Given the description of an element on the screen output the (x, y) to click on. 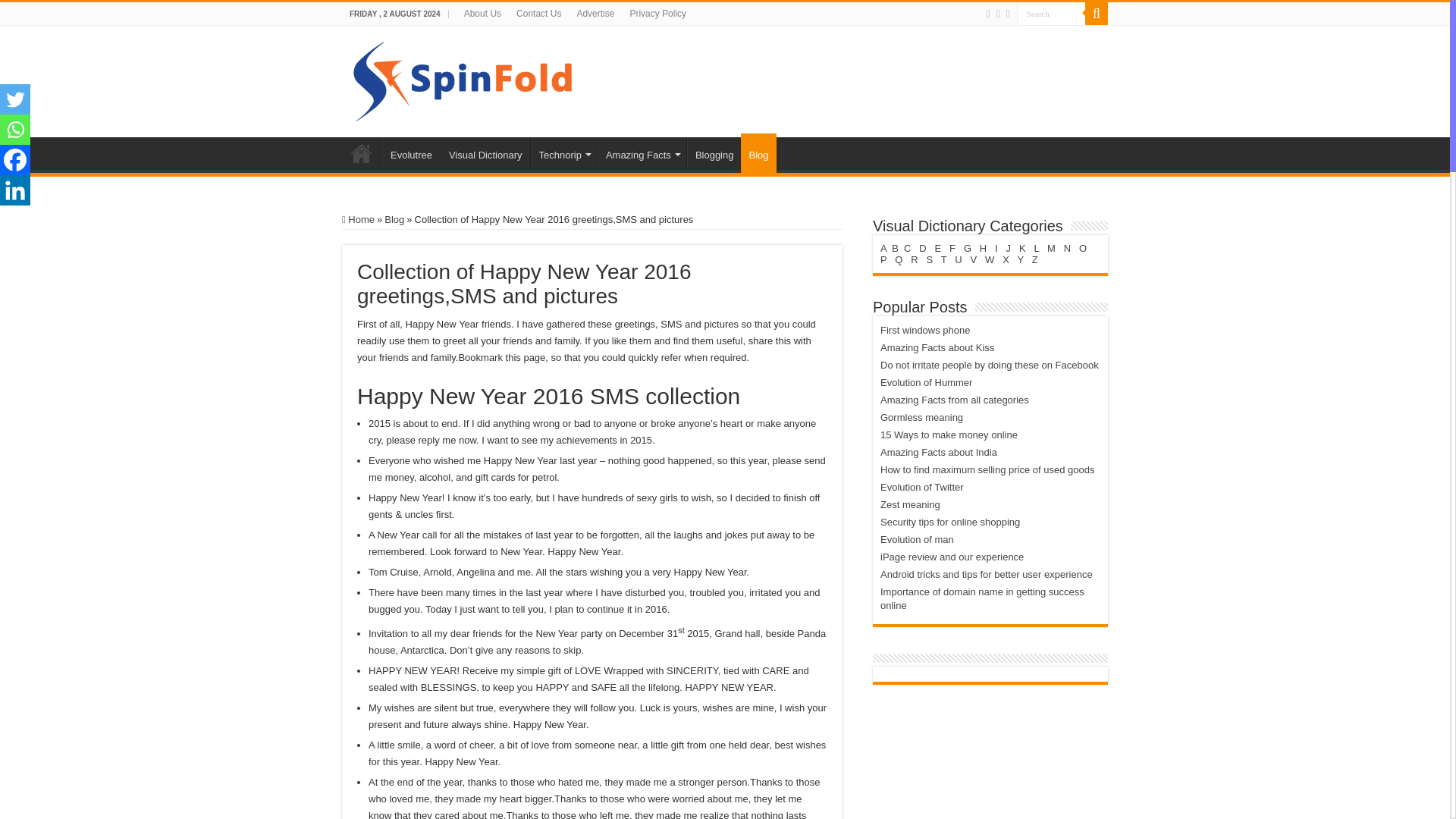
Home (361, 152)
About Us (482, 13)
Amazing Facts (640, 152)
Search (1050, 13)
Search (1096, 13)
Advertise (595, 13)
Evolutree (410, 152)
Privacy Policy (657, 13)
Contact Us (538, 13)
Visual Dictionary (485, 152)
Search (1050, 13)
Technorip (563, 152)
Spinfold (462, 78)
Search (1050, 13)
